Given the description of an element on the screen output the (x, y) to click on. 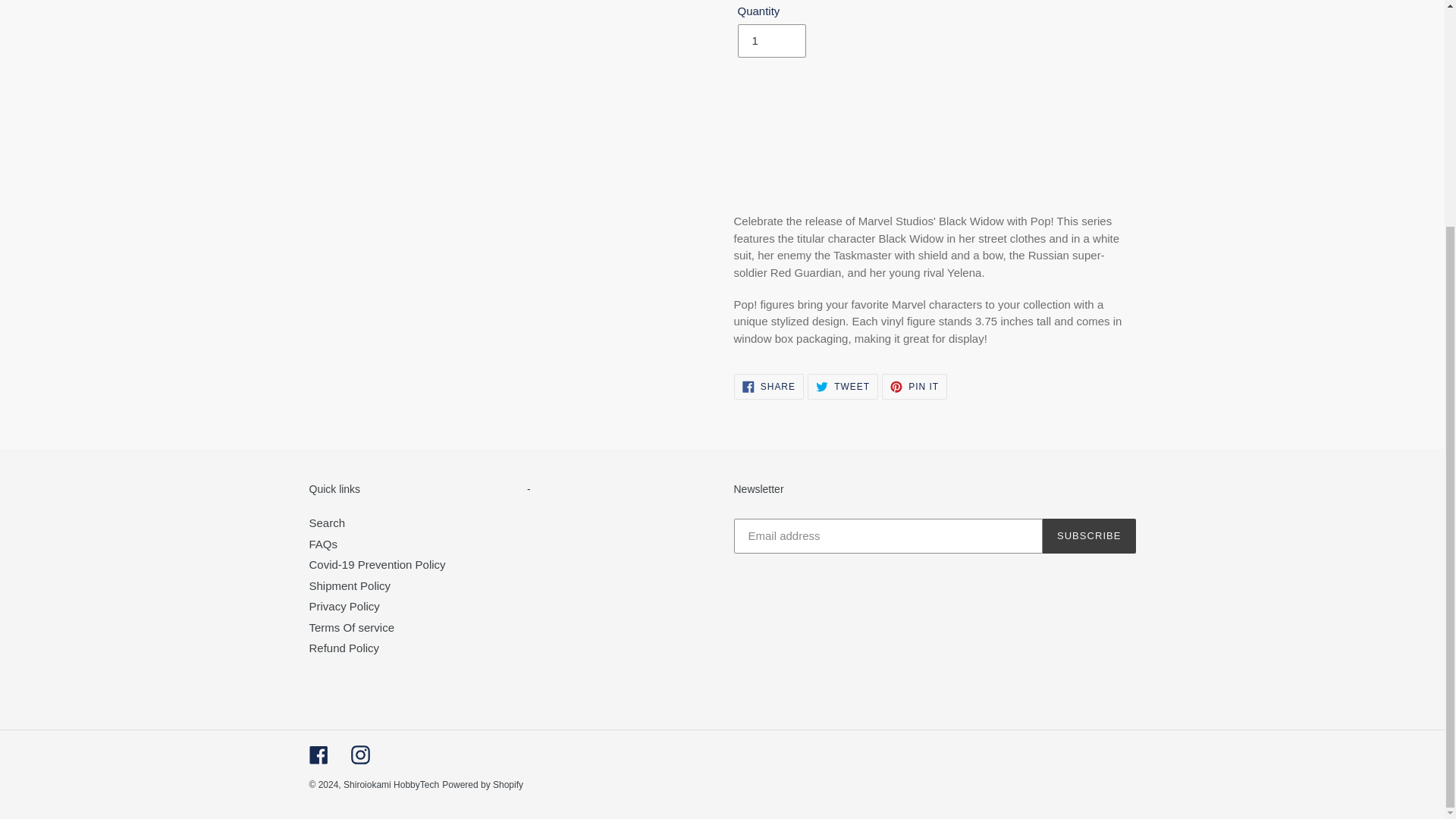
1 (770, 40)
